Given the description of an element on the screen output the (x, y) to click on. 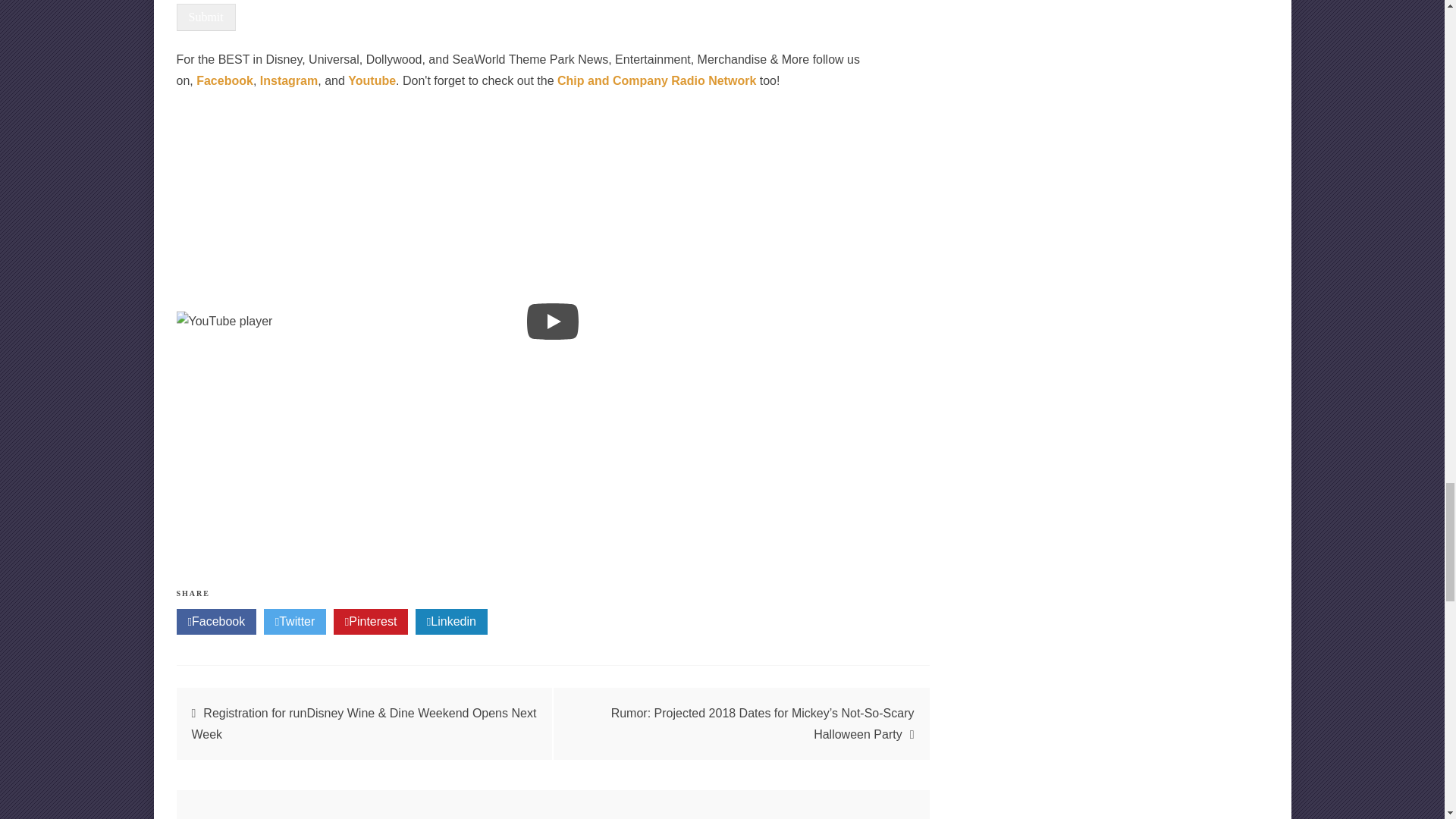
Submit (205, 17)
